Given the description of an element on the screen output the (x, y) to click on. 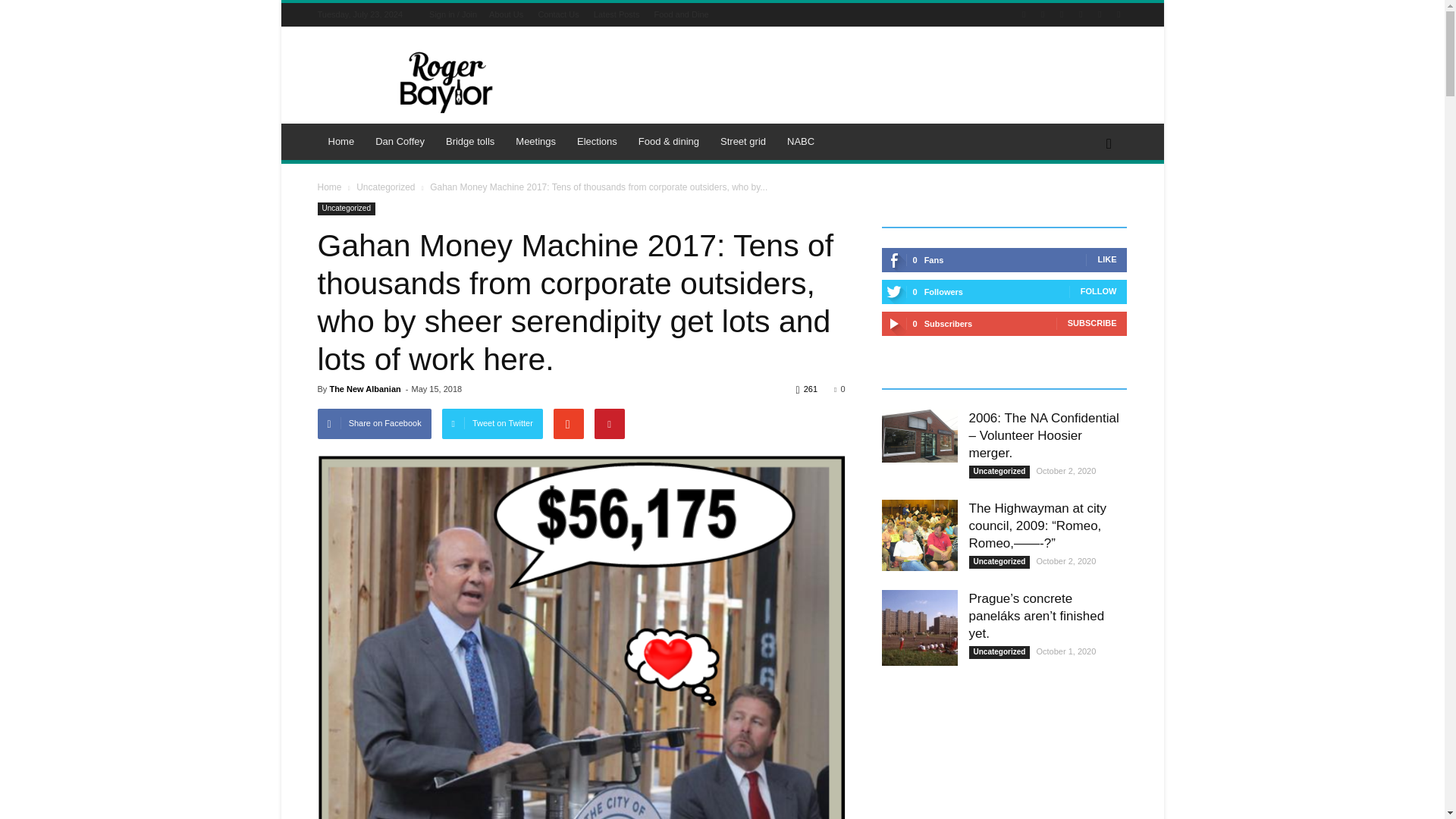
Behance (1023, 13)
Contact Us (557, 13)
VKontakte (1117, 13)
Food and Dine (680, 13)
Vimeo (1099, 13)
Home (341, 141)
About Us (505, 13)
Latest Posts (617, 13)
Instagram (1061, 13)
Twitter (1080, 13)
Facebook (1042, 13)
Dan Coffey (400, 141)
View all posts in Uncategorized (385, 186)
